Given the description of an element on the screen output the (x, y) to click on. 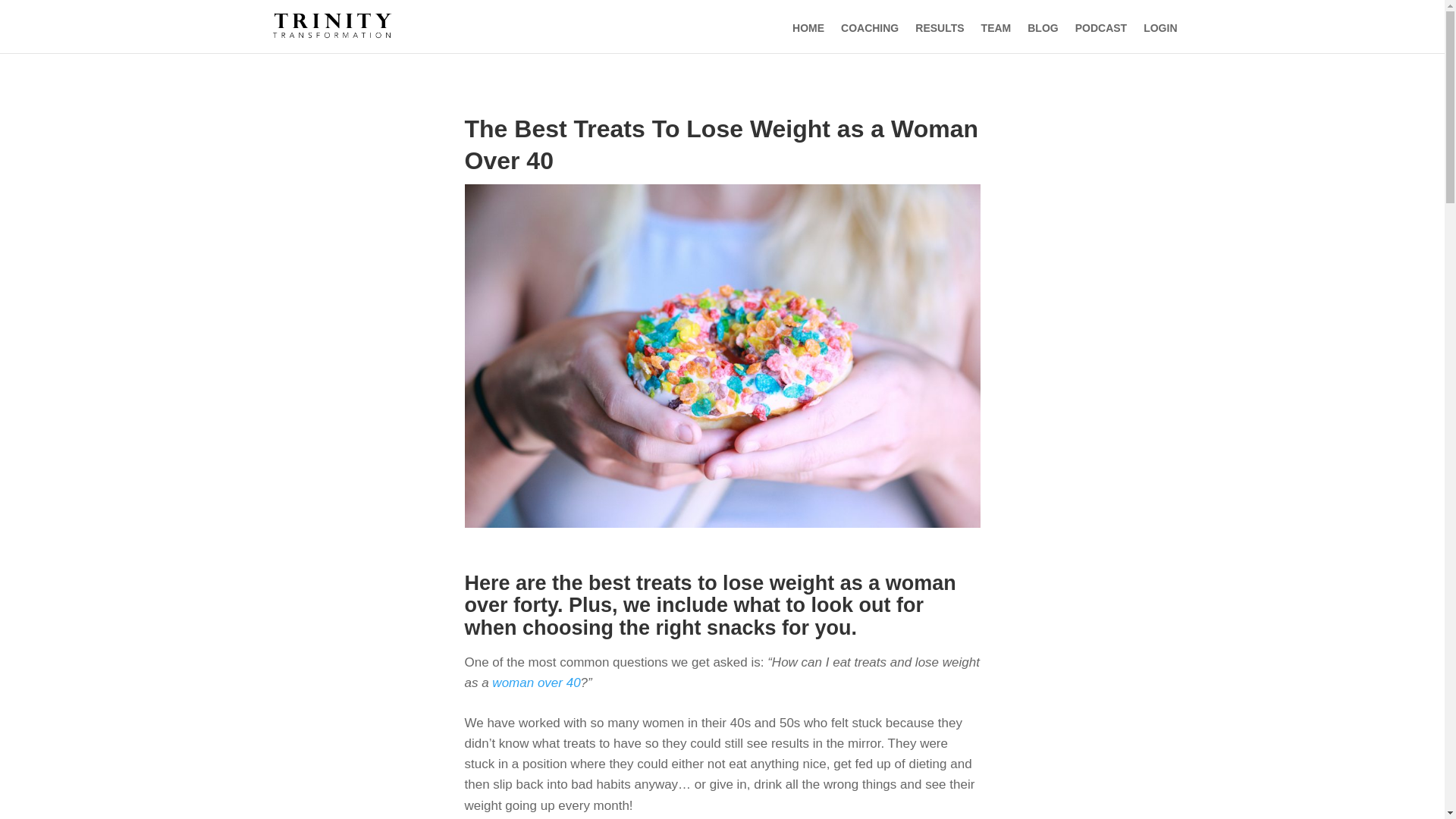
PODCAST (1100, 27)
LOGIN (1159, 27)
HOME (808, 27)
TEAM (996, 27)
RESULTS (939, 27)
BLOG (1042, 27)
COACHING (869, 27)
woman over 40 (535, 682)
